Given the description of an element on the screen output the (x, y) to click on. 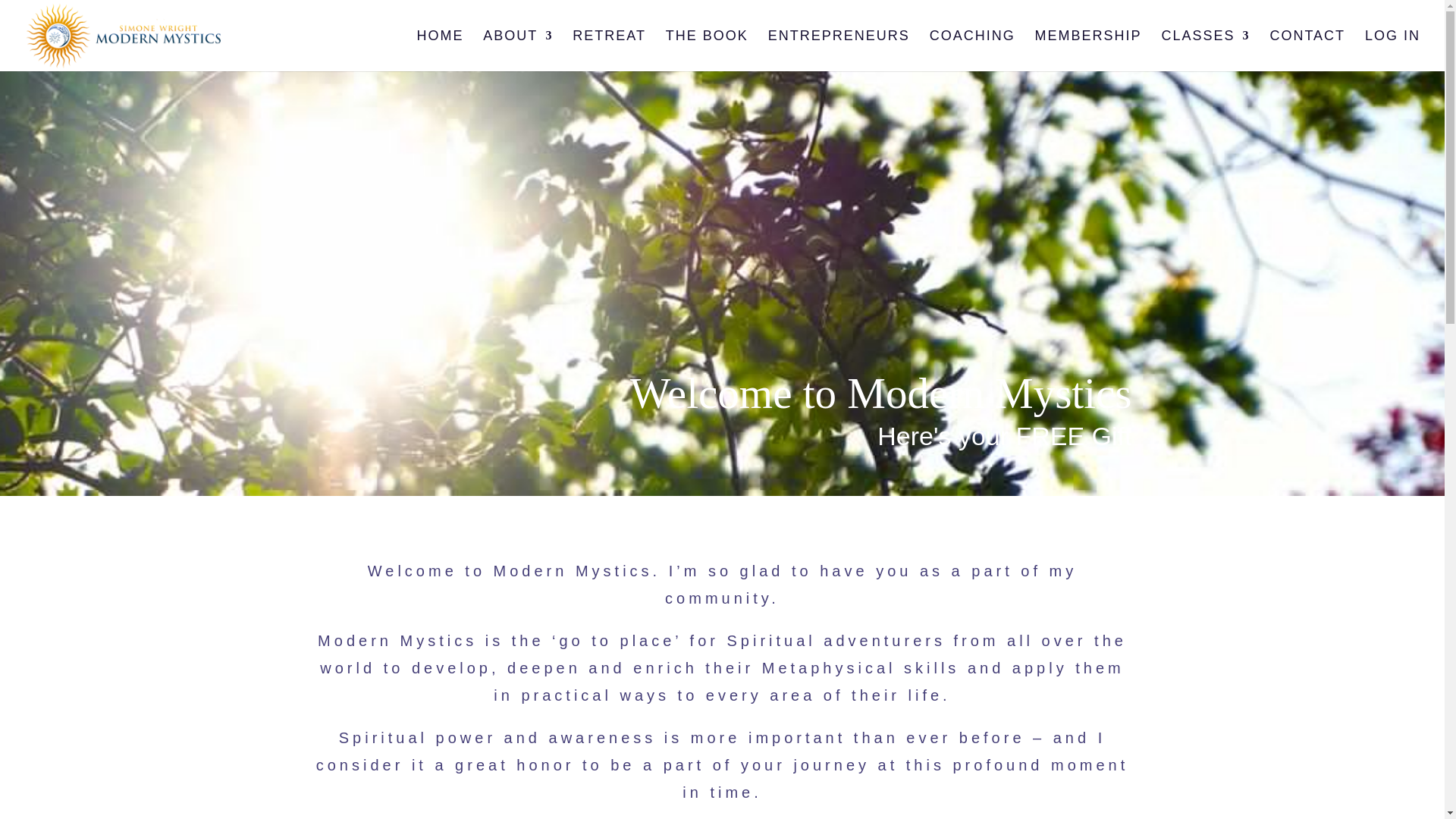
LOG IN (1393, 50)
CONTACT (1307, 50)
COACHING (972, 50)
MEMBERSHIP (1088, 50)
THE BOOK (706, 50)
RETREAT (609, 50)
HOME (439, 50)
ENTREPRENEURS (839, 50)
ABOUT (518, 50)
CLASSES (1204, 50)
